Given the description of an element on the screen output the (x, y) to click on. 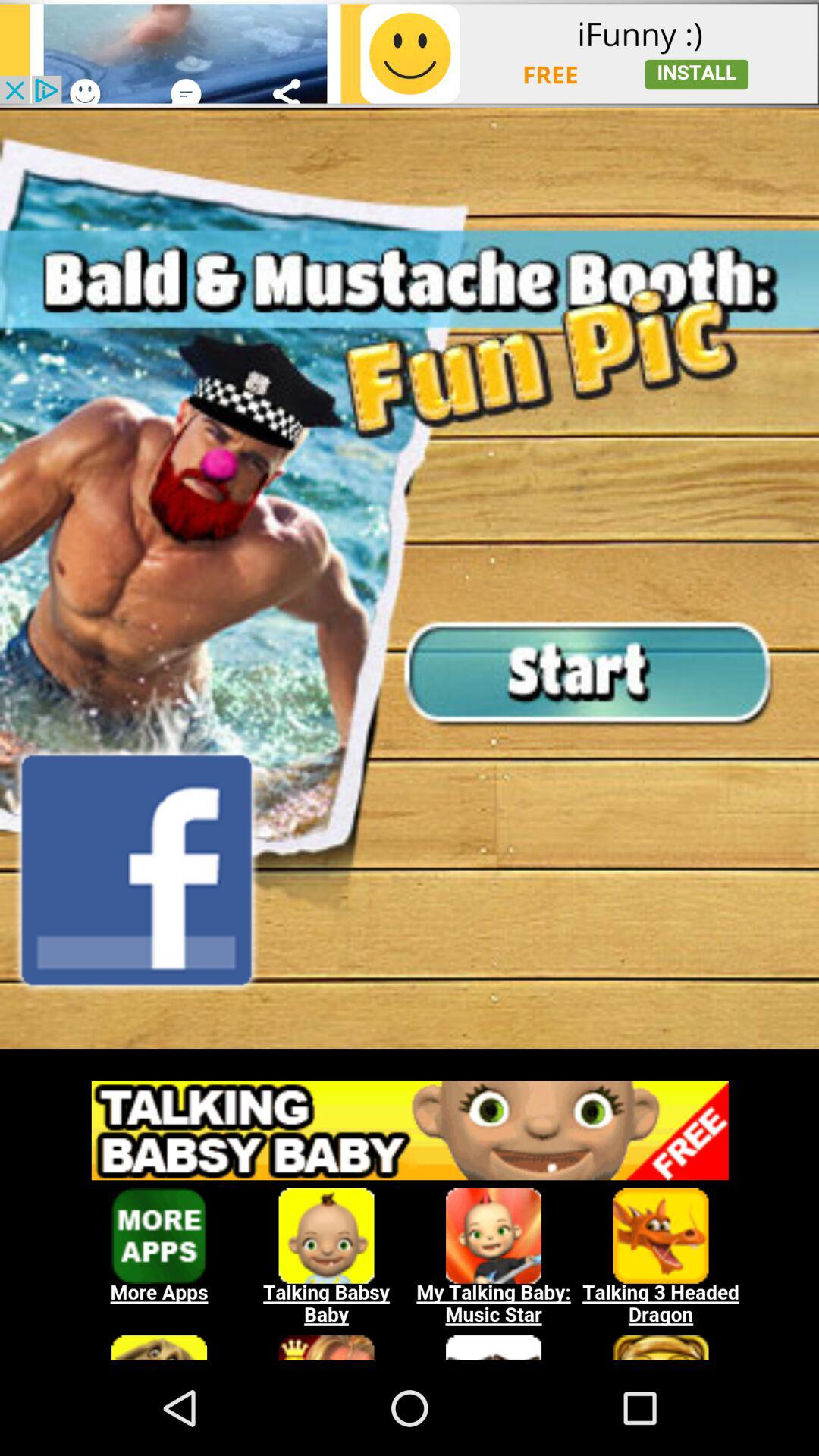
add the option (409, 1212)
